Given the description of an element on the screen output the (x, y) to click on. 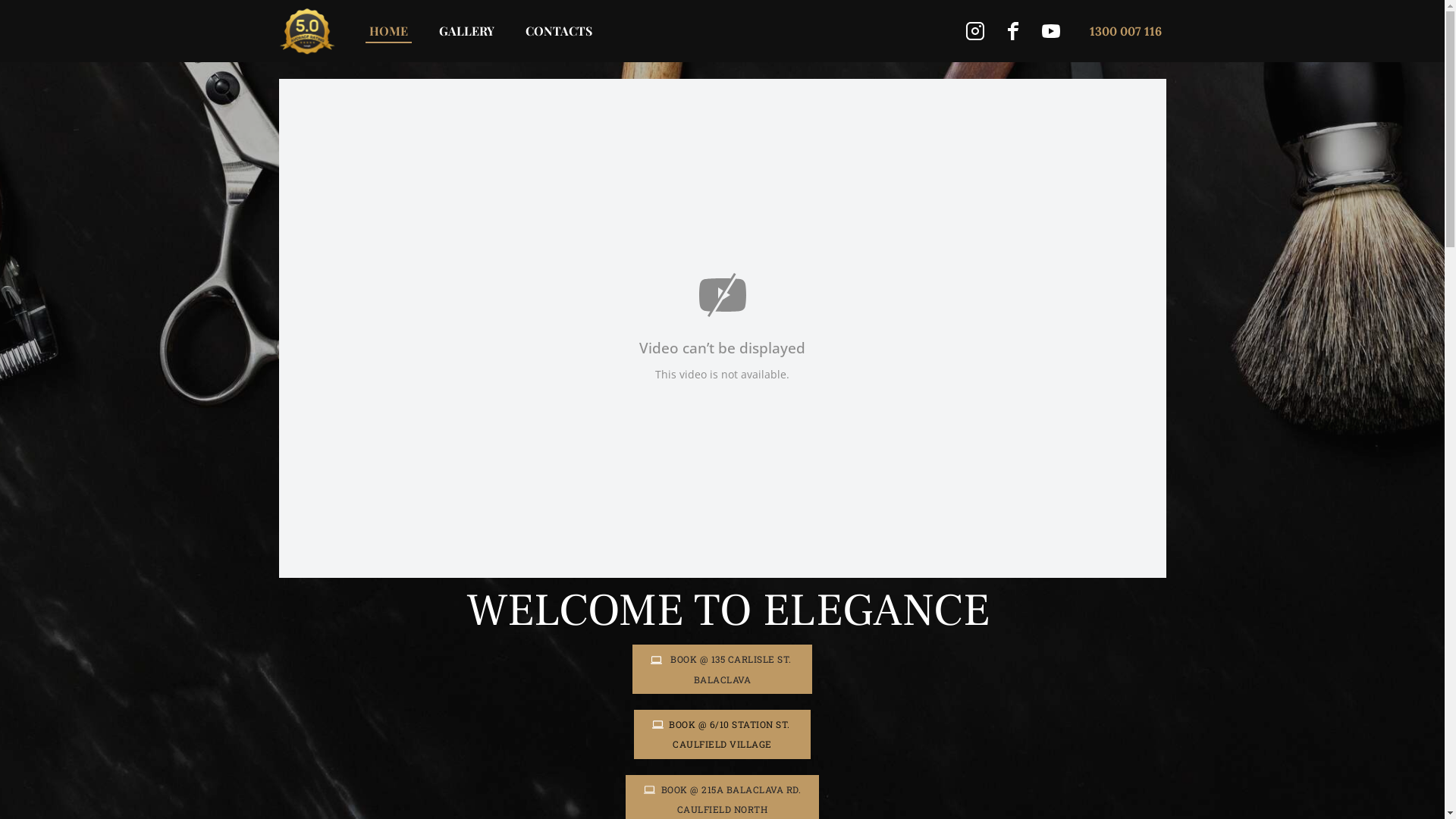
CONTACTS Element type: text (559, 30)
1300 007 116 Element type: text (1124, 30)
HOME Element type: text (388, 30)
GALLERY Element type: text (466, 30)
BOOK @ 135 CARLISLE ST. 
BALACLAVA Element type: text (722, 668)
BOOK @ 6/10 STATION ST. 
CAULFIELD VILLAGE Element type: text (722, 734)
